Given the description of an element on the screen output the (x, y) to click on. 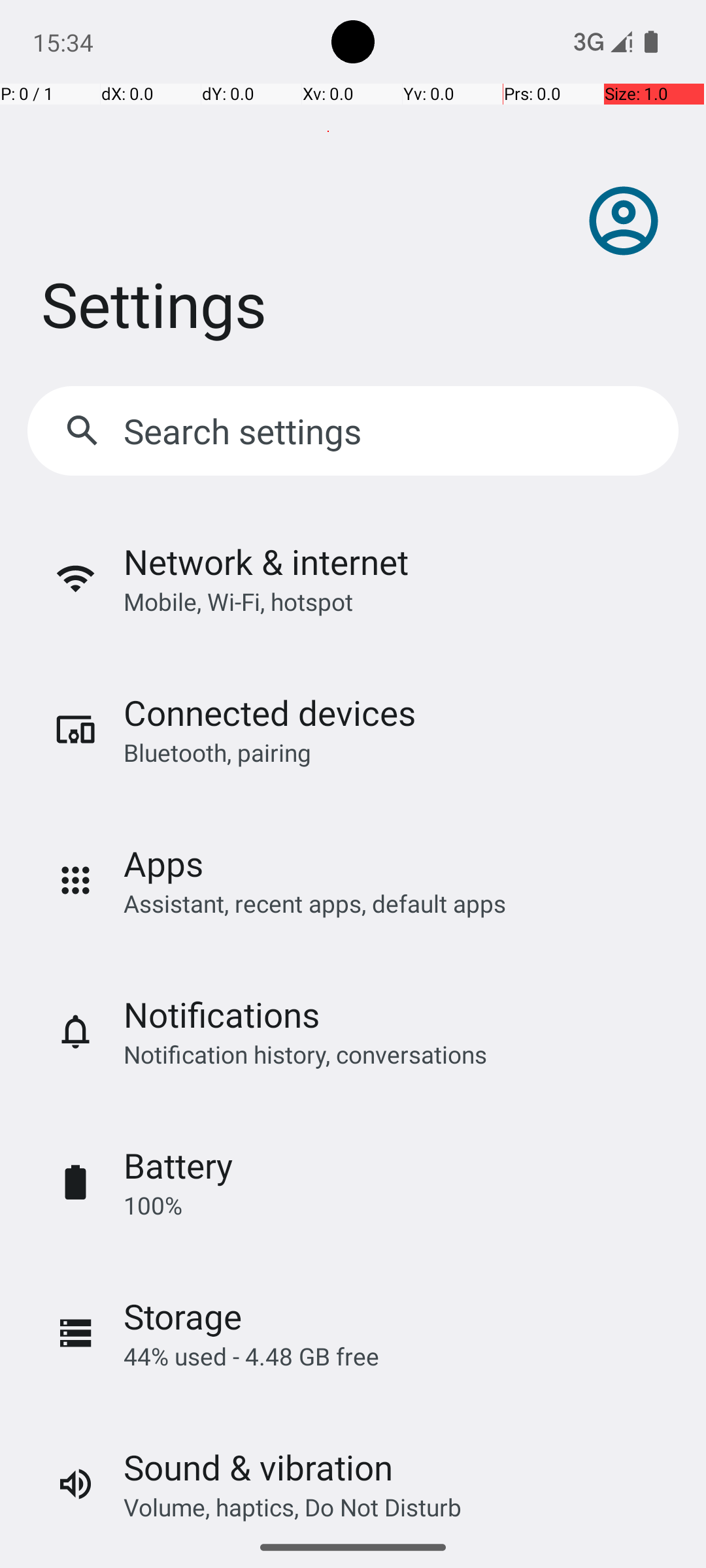
44% used - 4.48 GB free Element type: android.widget.TextView (251, 1355)
